Given the description of an element on the screen output the (x, y) to click on. 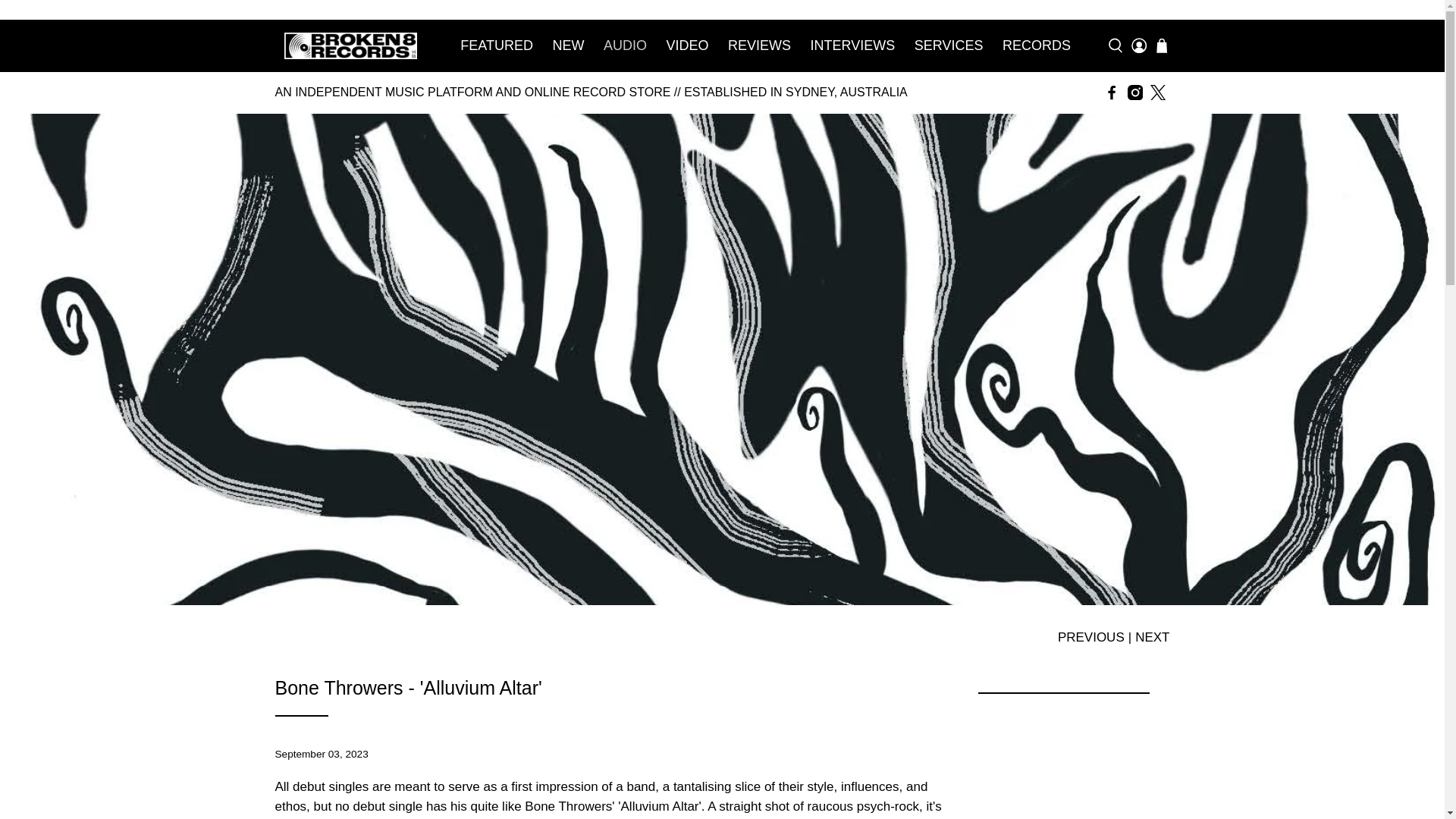
RECORDS (1036, 45)
BROKEN 8 RECORDS on X (1158, 92)
AUDIO (625, 45)
NEXT (1152, 636)
SERVICES (948, 45)
BROKEN 8 RECORDS on Facebook (1111, 92)
BROKEN 8 RECORDS (349, 44)
VIDEO (687, 45)
REVIEWS (758, 45)
BROKEN 8 RECORDS on Instagram (1134, 92)
Previous (1091, 636)
NEW (568, 45)
INTERVIEWS (852, 45)
Advertisement (1062, 764)
FEATURED (497, 45)
